Given the description of an element on the screen output the (x, y) to click on. 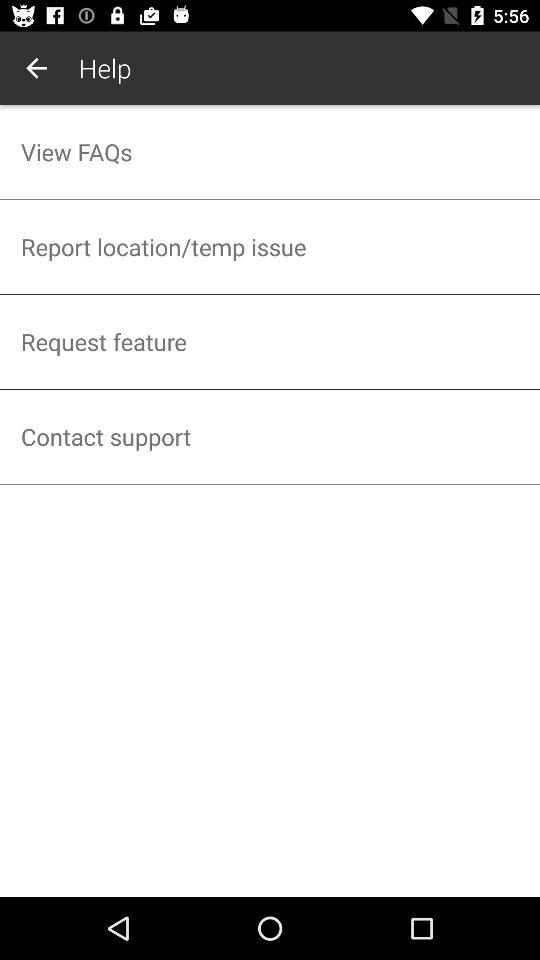
turn off the request feature icon (270, 341)
